Given the description of an element on the screen output the (x, y) to click on. 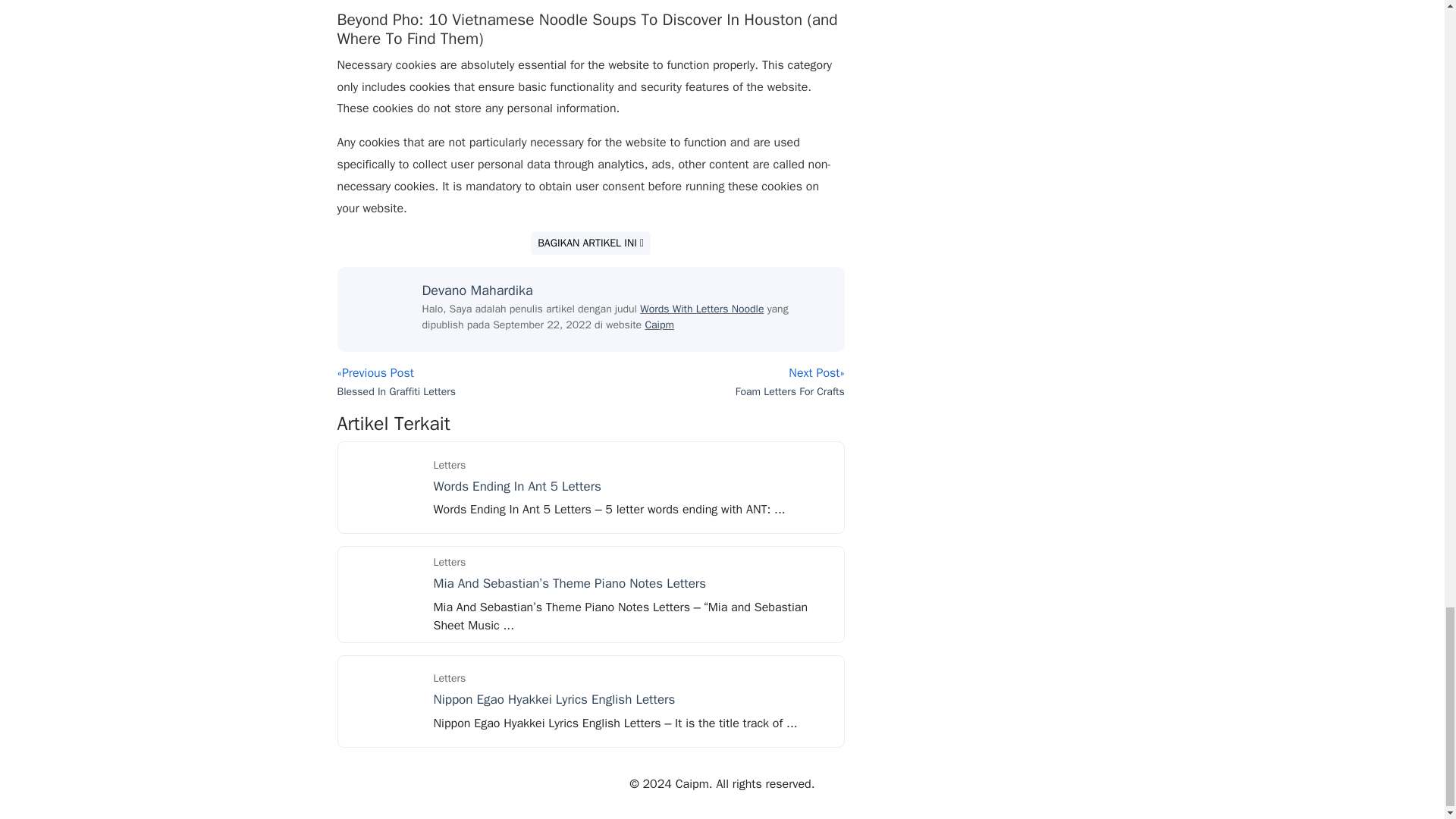
Nippon Egao Hyakkei Lyrics English Letters (384, 700)
Words With Letters Noodle (701, 308)
Letters (449, 561)
Devano Mahardika (477, 289)
Caipm (659, 324)
Letters (449, 465)
Nippon Egao Hyakkei Lyrics English Letters (554, 699)
Words Ending In Ant 5 Letters (384, 487)
Letters (449, 678)
BAGIKAN ARTIKEL INI (590, 242)
